Given the description of an element on the screen output the (x, y) to click on. 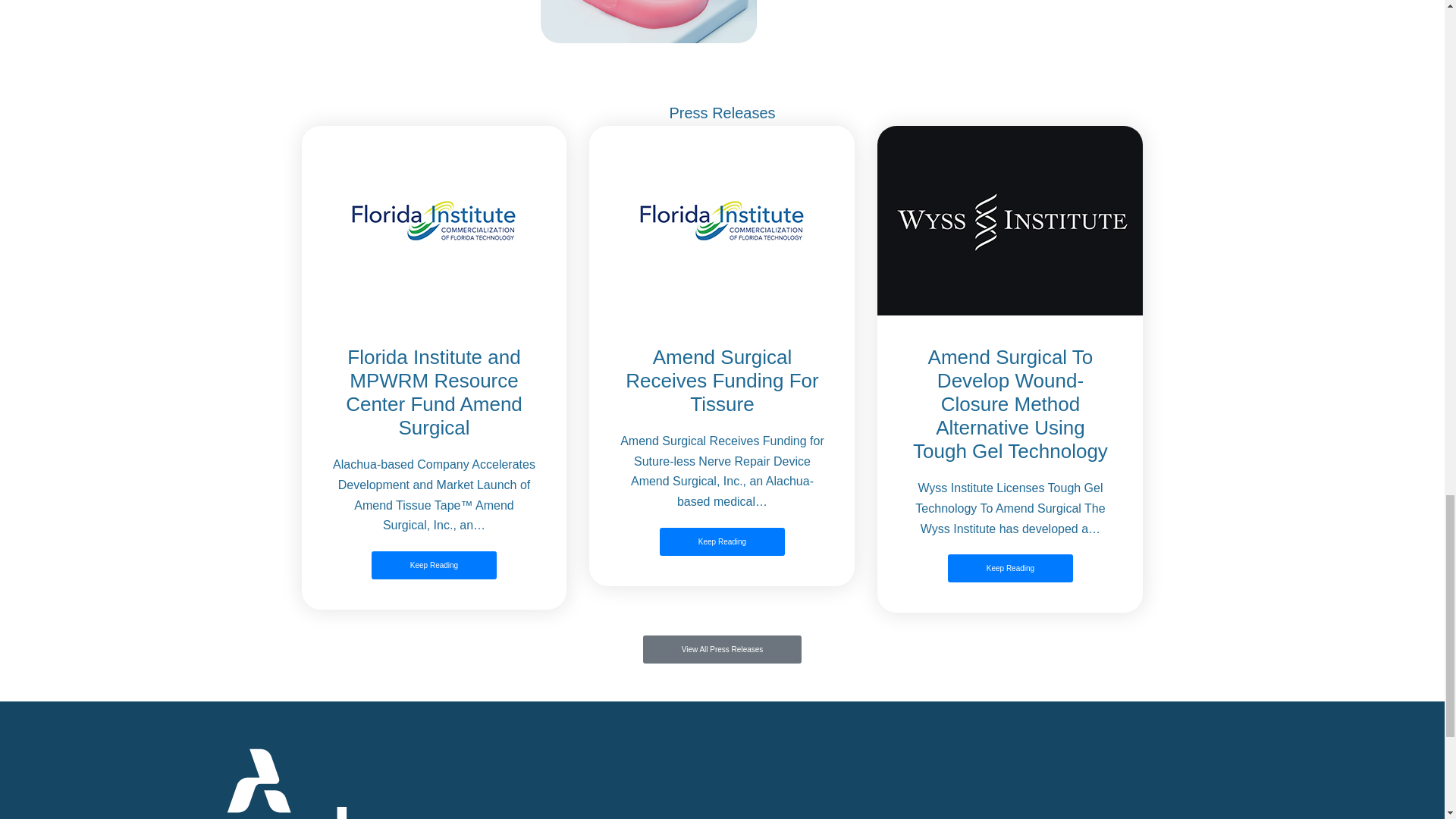
Keep Reading (721, 541)
Keep Reading (433, 565)
Keep Reading (1010, 568)
View All Press Releases (722, 649)
